Given the description of an element on the screen output the (x, y) to click on. 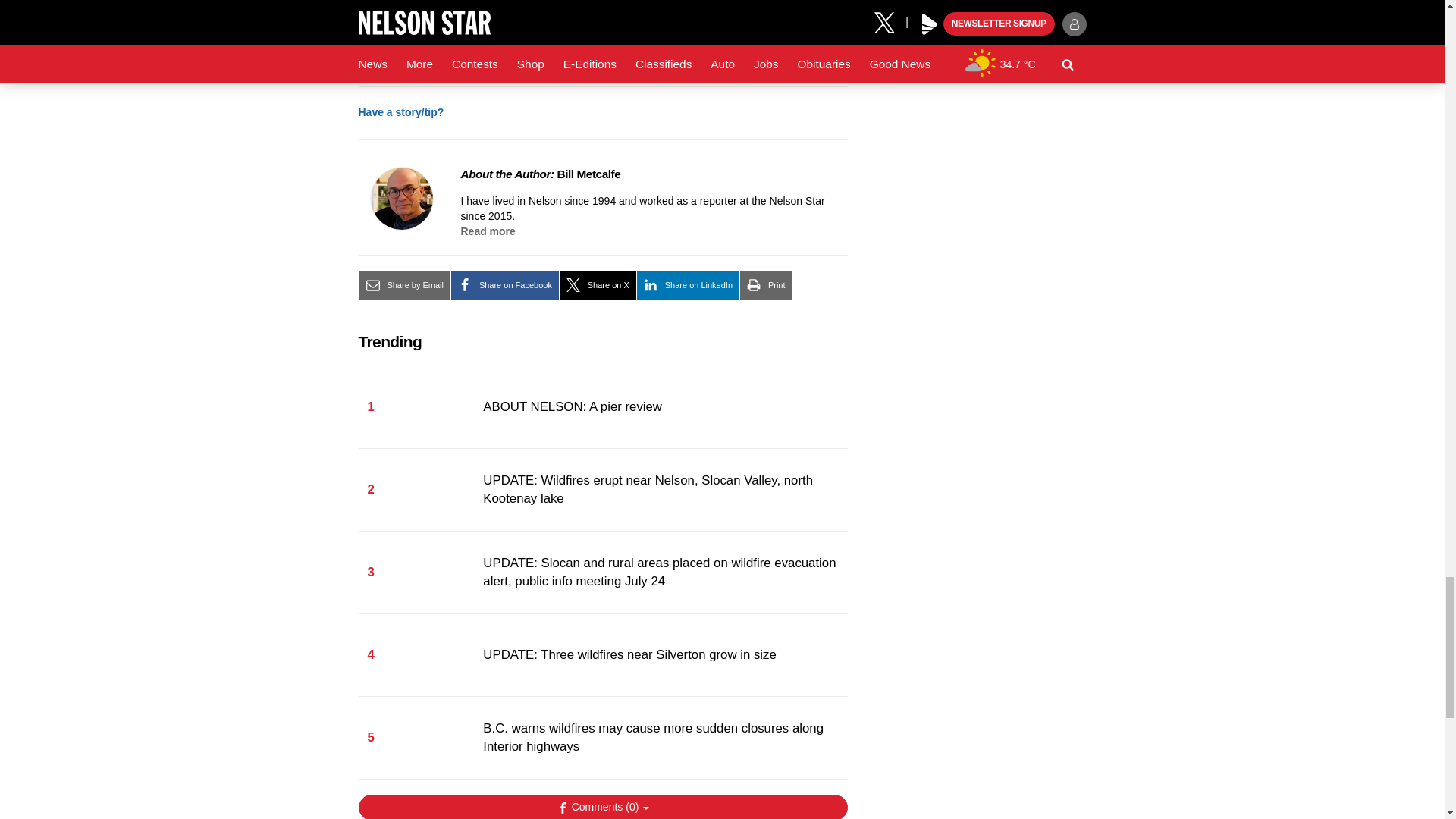
Show Comments (602, 806)
